Given the description of an element on the screen output the (x, y) to click on. 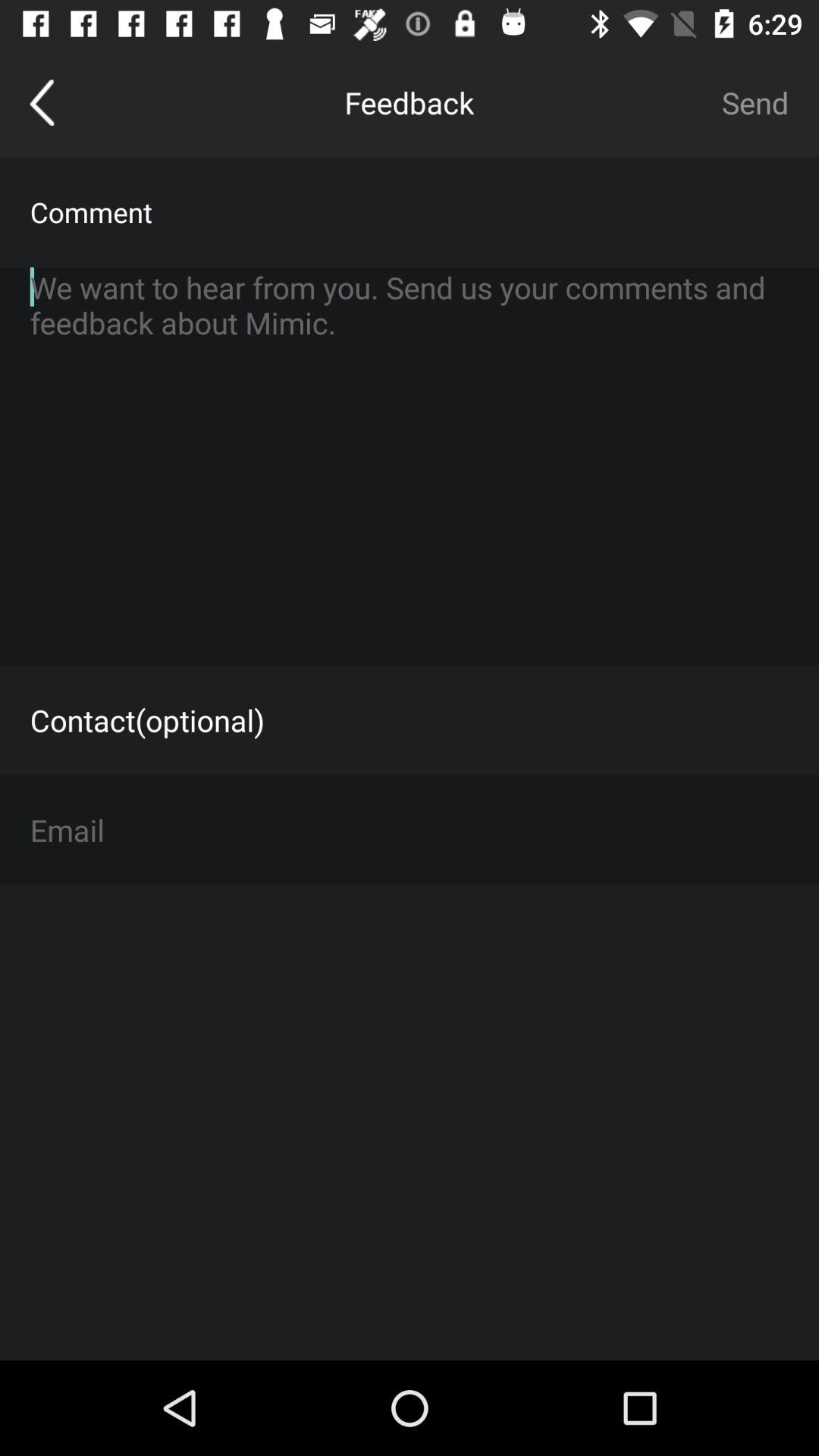
enter email (409, 829)
